Given the description of an element on the screen output the (x, y) to click on. 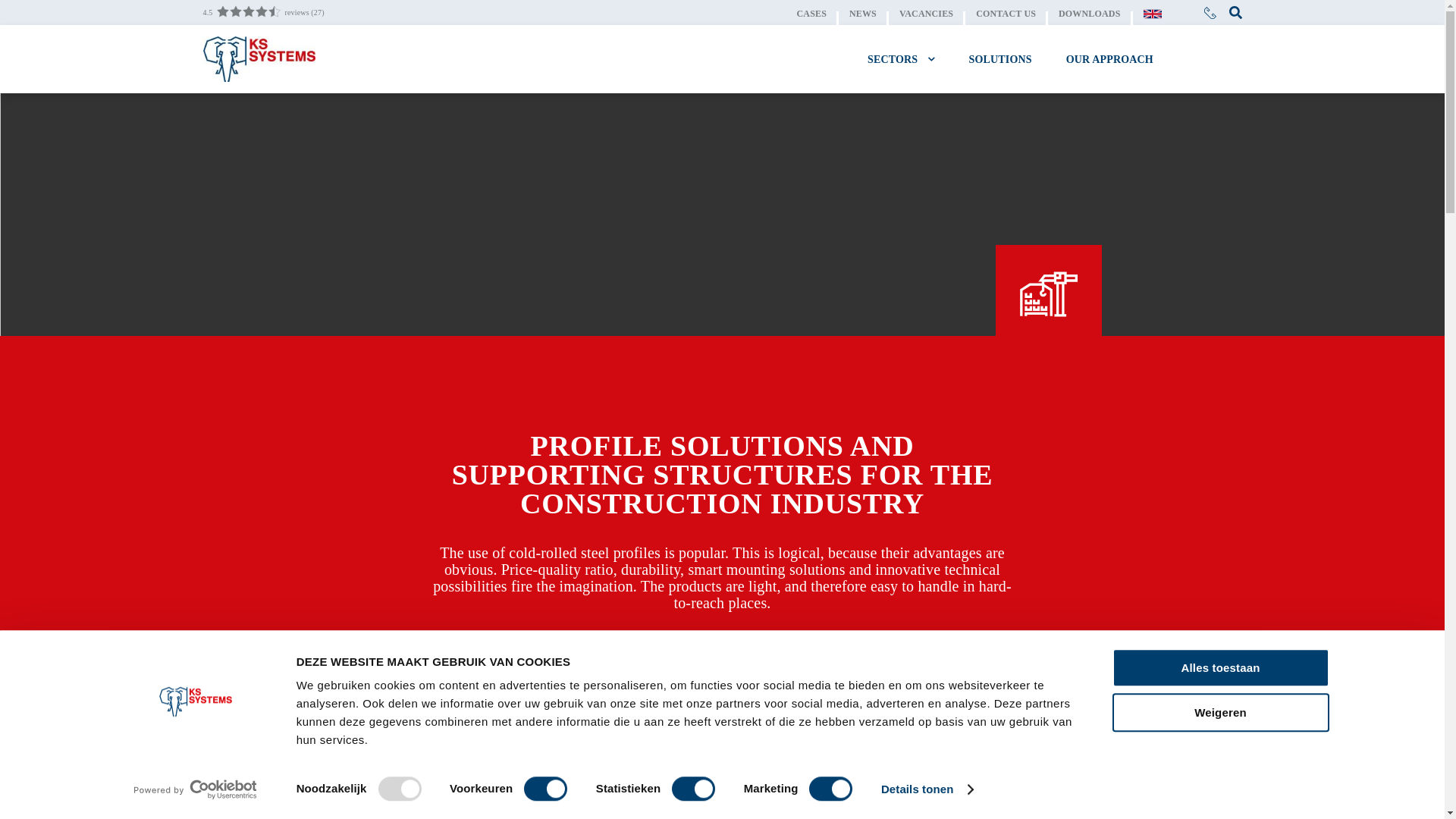
VACANCIES (937, 12)
CASES (822, 12)
Alles toestaan (1219, 667)
CONTACT US (1016, 12)
Weigeren (1219, 712)
NEWS (873, 12)
Details tonen (926, 789)
